Given the description of an element on the screen output the (x, y) to click on. 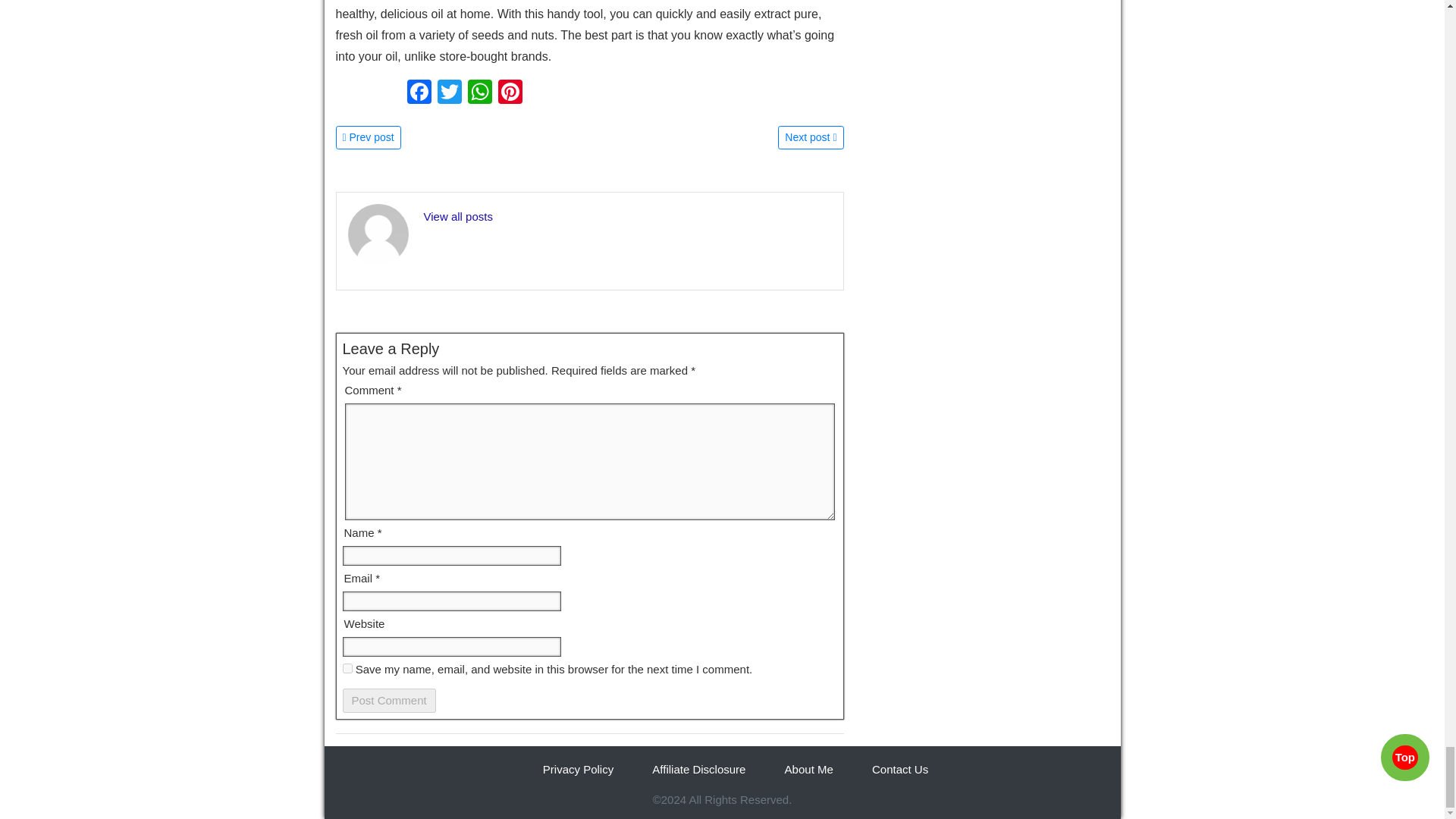
Twitter (448, 93)
WhatsApp (479, 93)
WhatsApp (479, 93)
Facebook (418, 93)
View all posts (457, 215)
Post Comment (388, 700)
Post Comment (388, 700)
Pinterest (509, 93)
yes (347, 668)
Next post (810, 136)
